Given the description of an element on the screen output the (x, y) to click on. 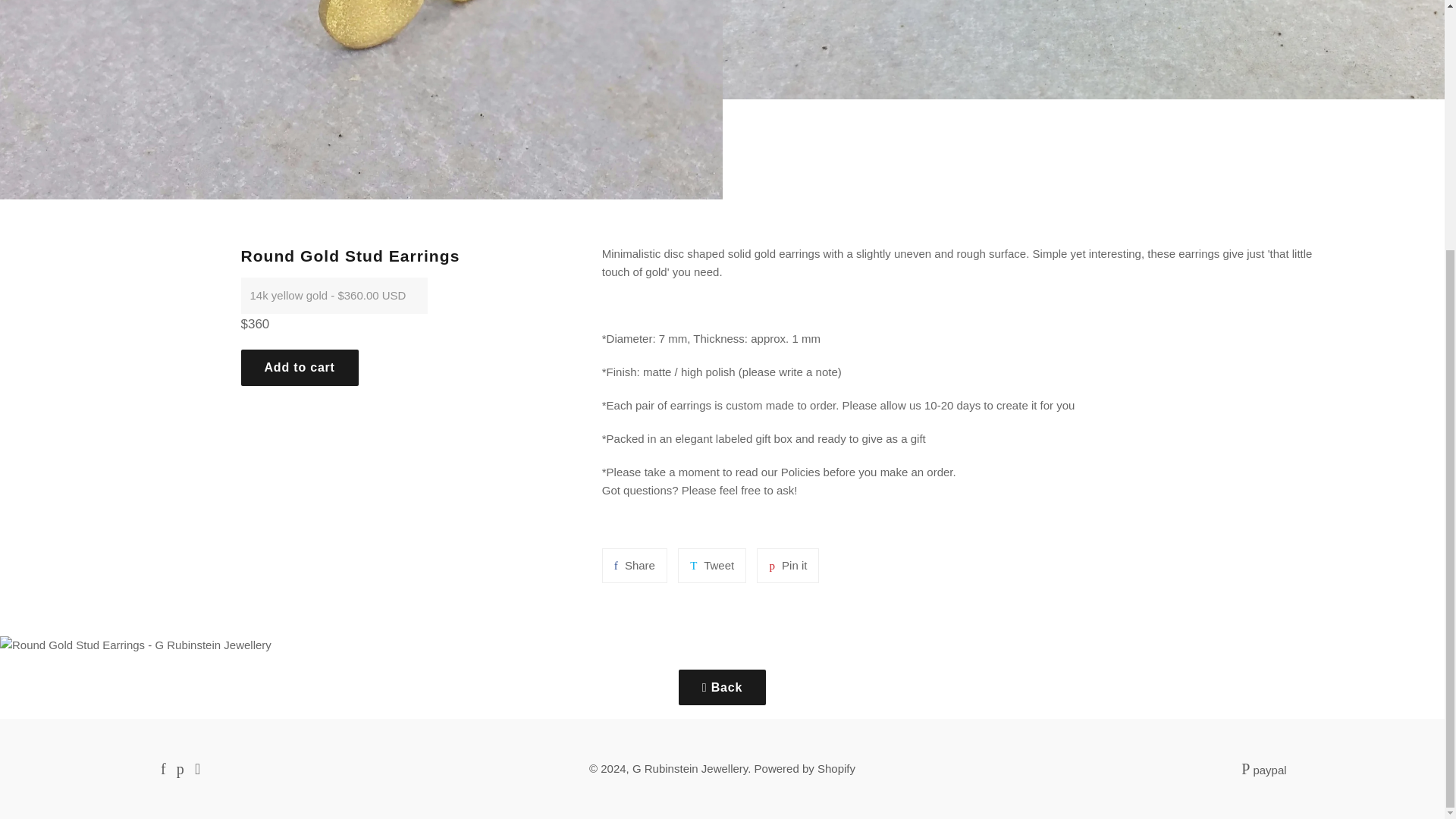
Powered by Shopify (634, 565)
G Rubinstein Jewellery on Facebook (805, 768)
Back (162, 769)
Facebook (721, 687)
Pin on Pinterest (162, 769)
G Rubinstein Jewellery on Instagram (787, 565)
Add to cart (787, 565)
G Rubinstein Jewellery (197, 769)
Share on Facebook (299, 367)
Pinterest (689, 768)
G Rubinstein Jewellery on Pinterest (634, 565)
Instagram (180, 769)
Tweet on Twitter (180, 769)
